Given the description of an element on the screen output the (x, y) to click on. 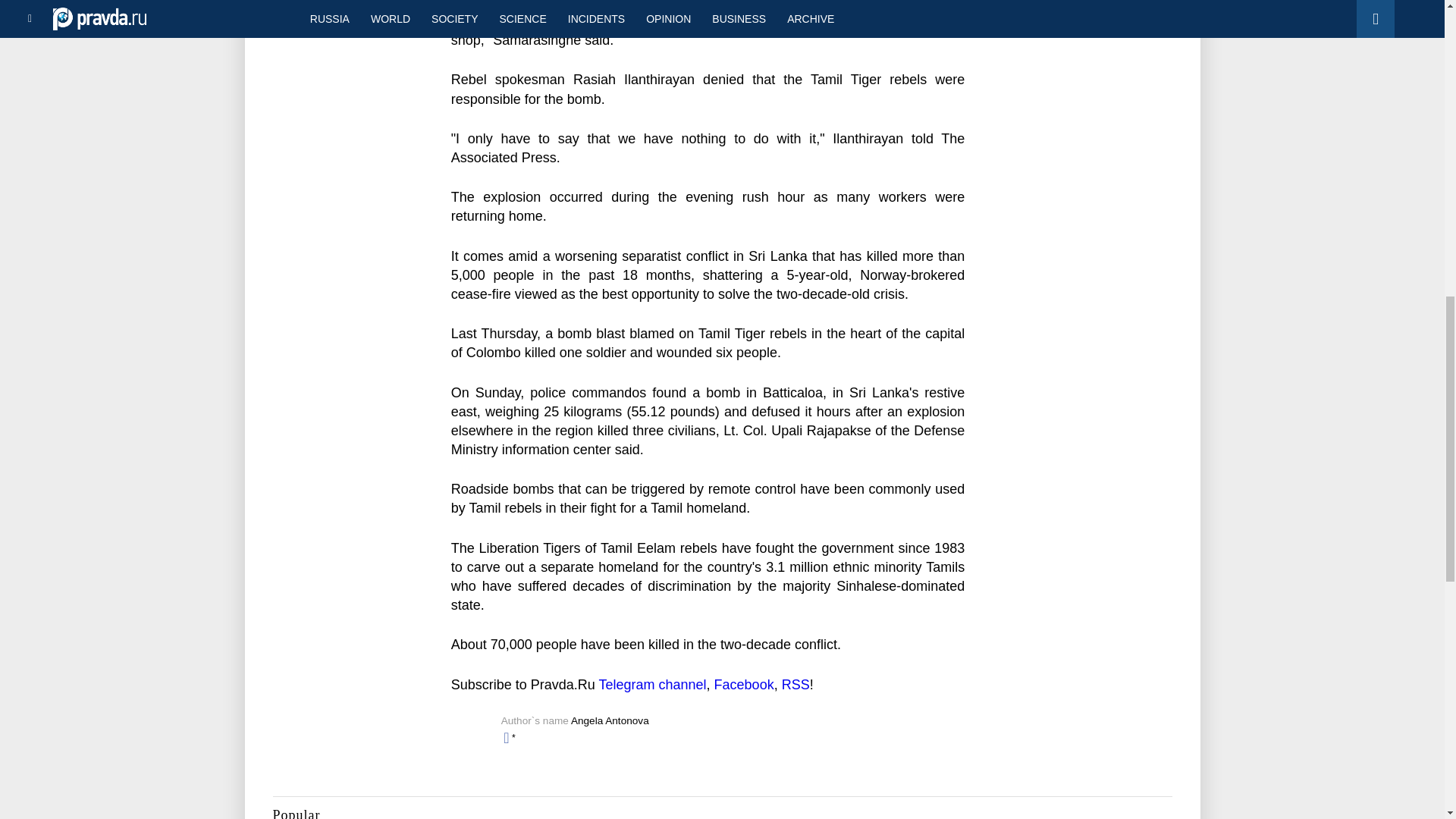
Back to top (1418, 79)
Facebook (744, 684)
Angela Antonova (609, 720)
Telegram channel (652, 684)
RSS (795, 684)
